Given the description of an element on the screen output the (x, y) to click on. 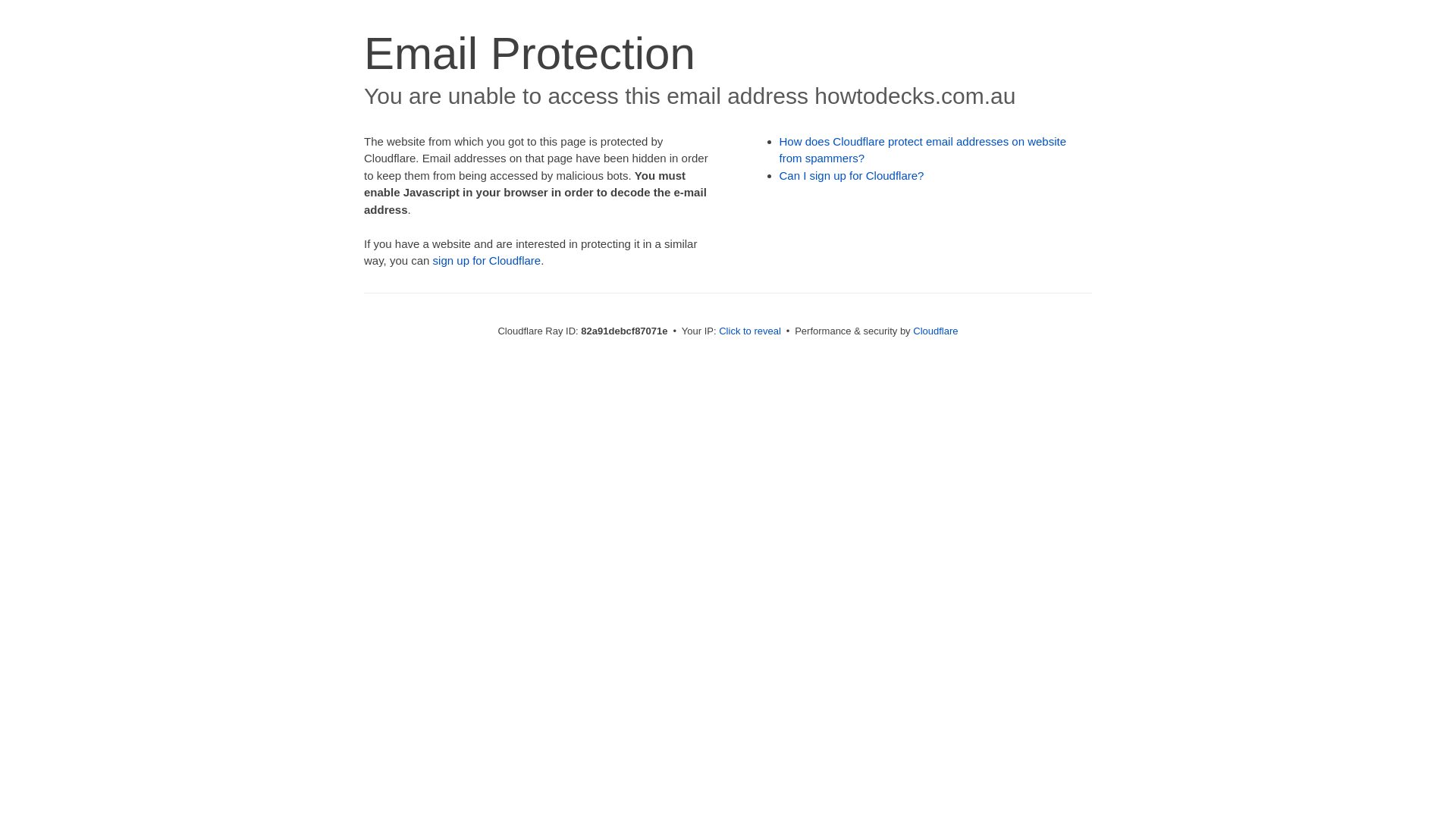
sign up for Cloudflare Element type: text (487, 260)
Cloudflare Element type: text (935, 330)
Can I sign up for Cloudflare? Element type: text (851, 175)
Click to reveal Element type: text (749, 330)
